Given the description of an element on the screen output the (x, y) to click on. 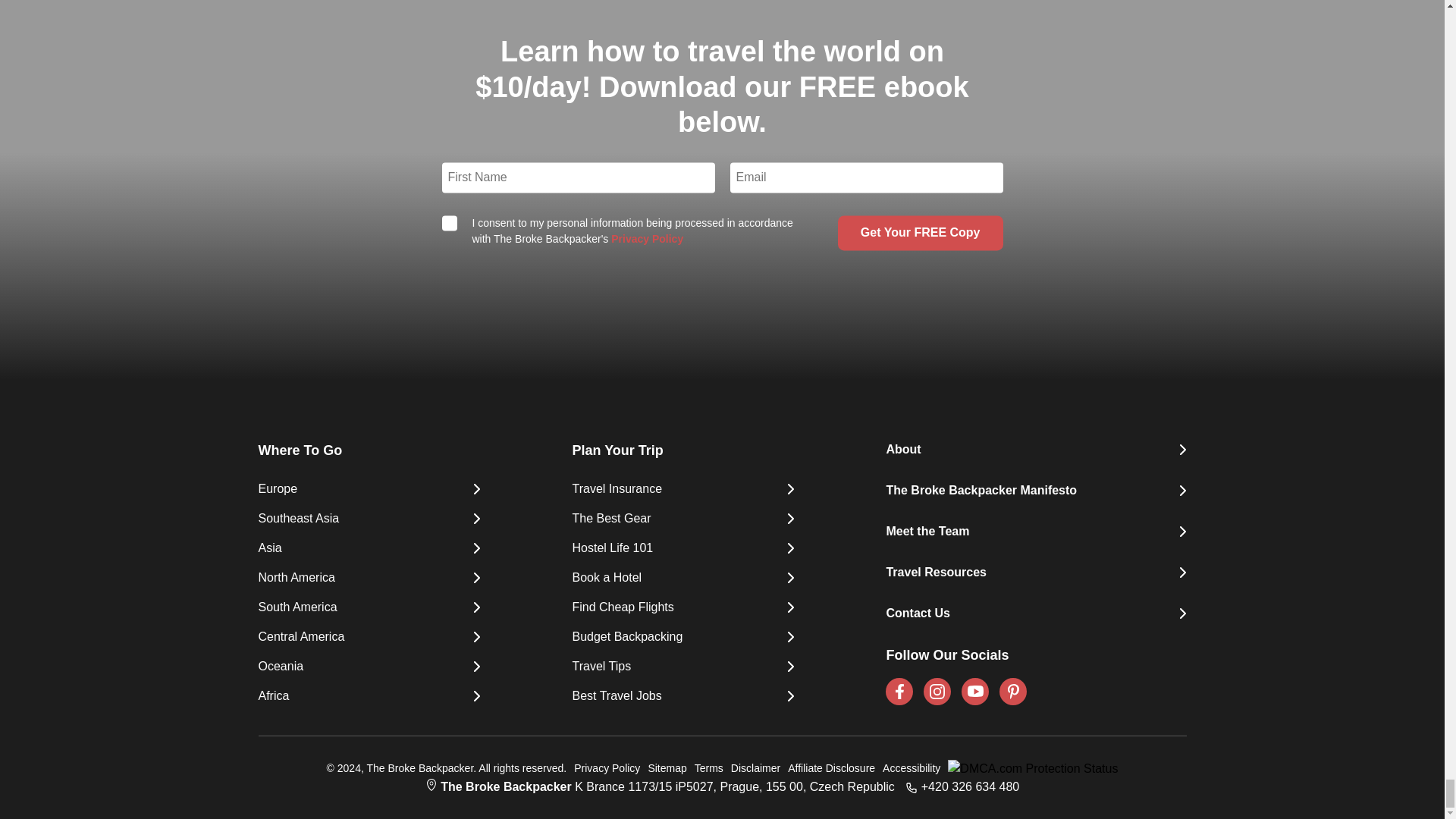
1 (449, 223)
DMCA.com Protection Status (1029, 768)
